Given the description of an element on the screen output the (x, y) to click on. 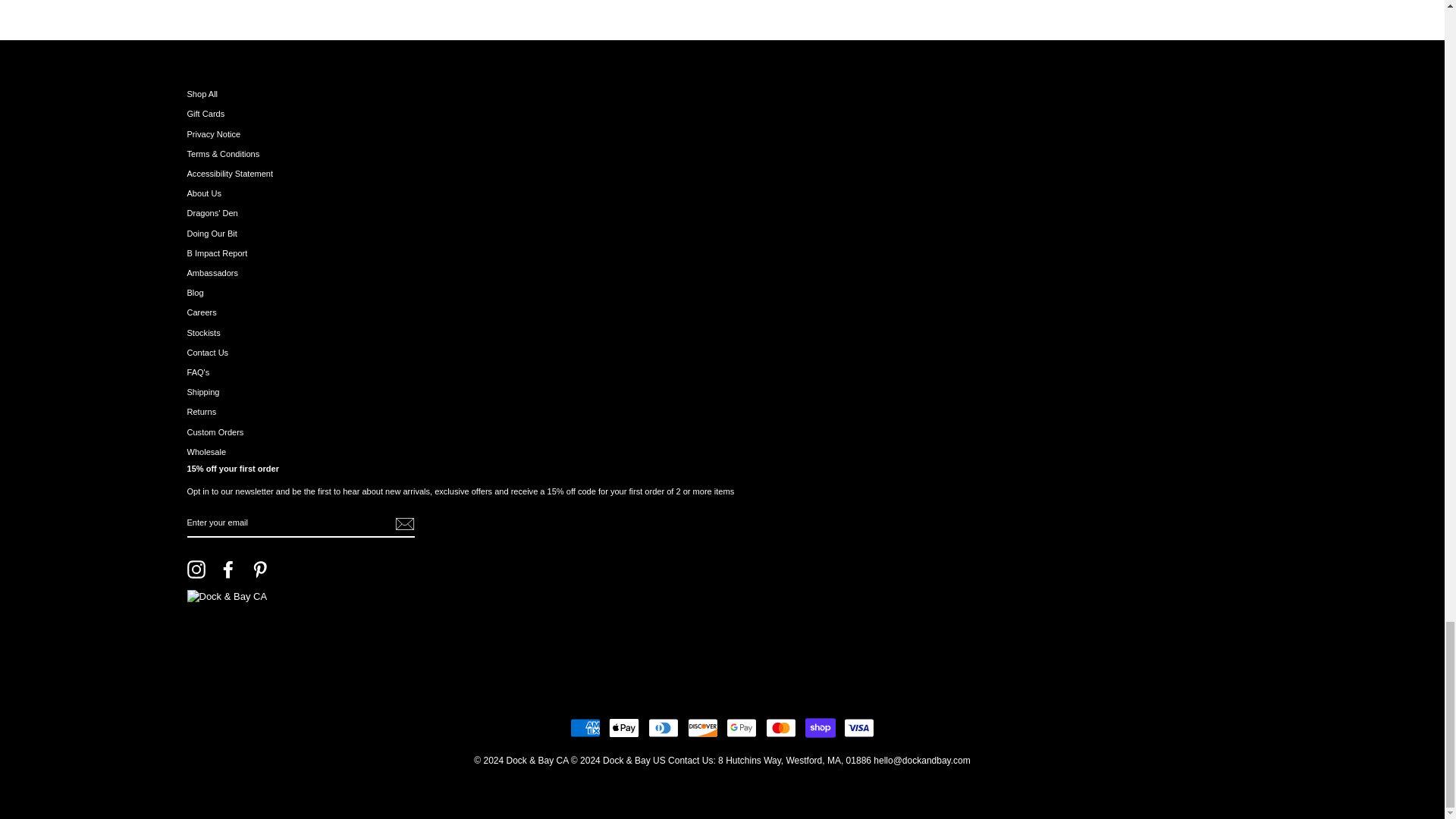
American Express (584, 727)
Mastercard (780, 727)
Discover (702, 727)
Visa (859, 727)
Diners Club (662, 727)
Apple Pay (623, 727)
Shop Pay (820, 727)
Google Pay (741, 727)
